Given the description of an element on the screen output the (x, y) to click on. 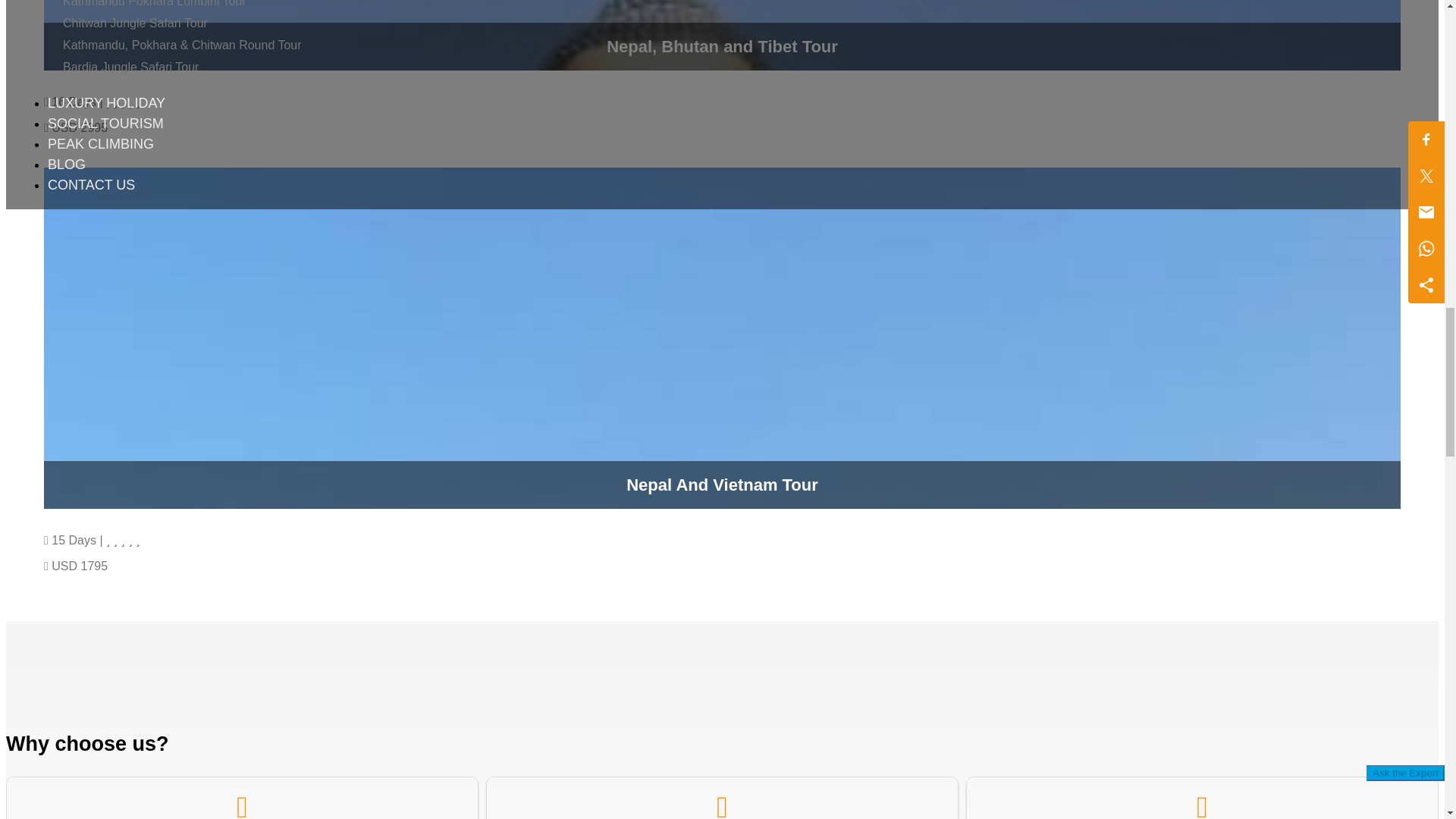
Social Tourism (105, 123)
Luxury Holiday (106, 102)
Peak Climbing (101, 143)
Contact us (91, 184)
Blog (66, 164)
